Given the description of an element on the screen output the (x, y) to click on. 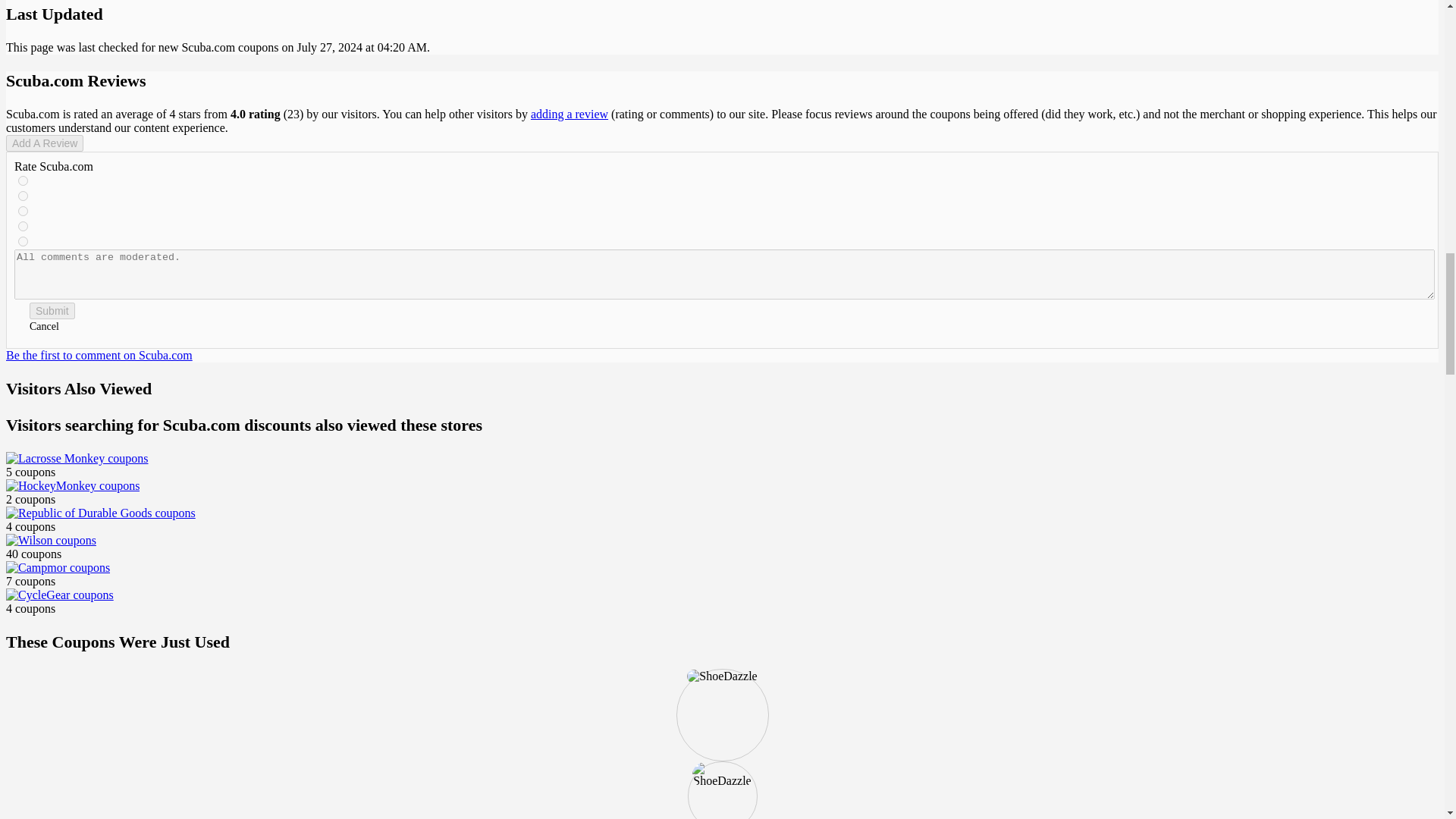
Wilson coupons (50, 540)
CycleGear coupons (59, 594)
HockeyMonkey coupons (72, 486)
Submit (52, 310)
1 (22, 241)
Republic of Durable Goods coupons (100, 513)
Campmor coupons (57, 567)
5 (22, 180)
Lacrosse Monkey coupons (76, 459)
2 (22, 225)
3 (22, 211)
4 (22, 195)
